Given the description of an element on the screen output the (x, y) to click on. 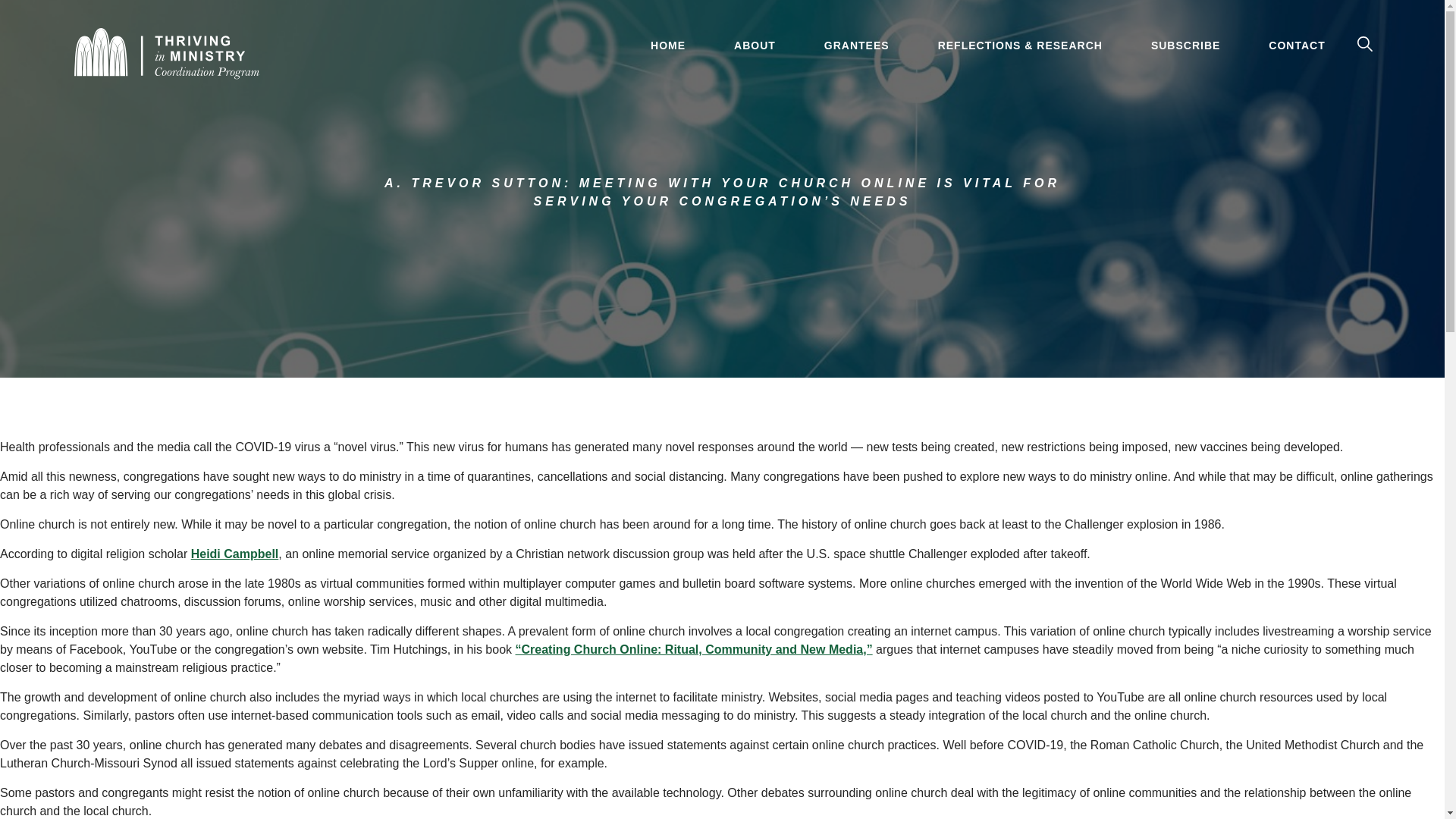
CONTACT (1296, 45)
Homepage Link (166, 52)
HOME (667, 45)
ABOUT (754, 45)
GRANTEES (856, 45)
SUBSCRIBE (1185, 45)
